Given the description of an element on the screen output the (x, y) to click on. 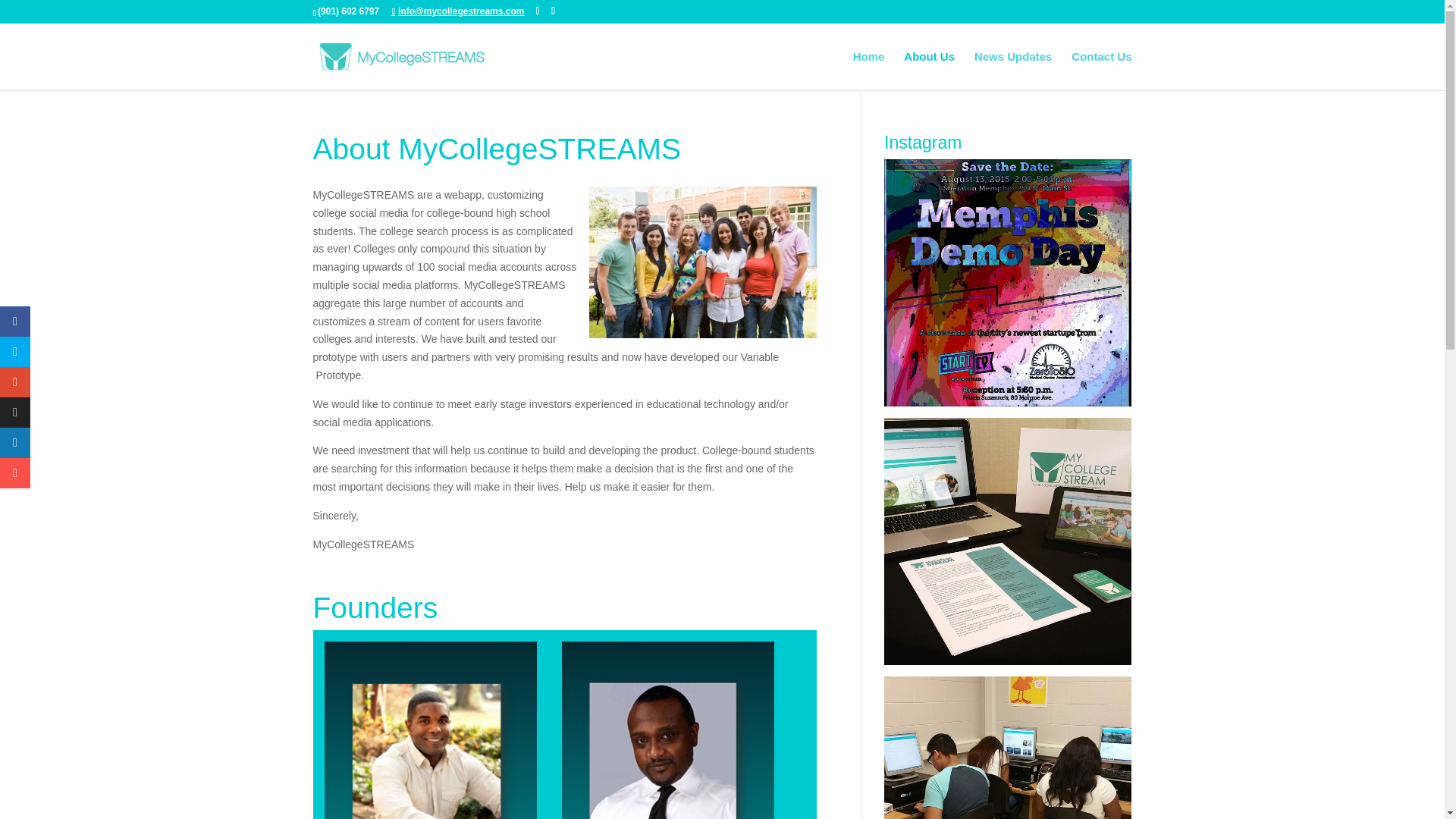
Contact Us (1101, 70)
News Updates (1013, 70)
About Us (929, 70)
